Given the description of an element on the screen output the (x, y) to click on. 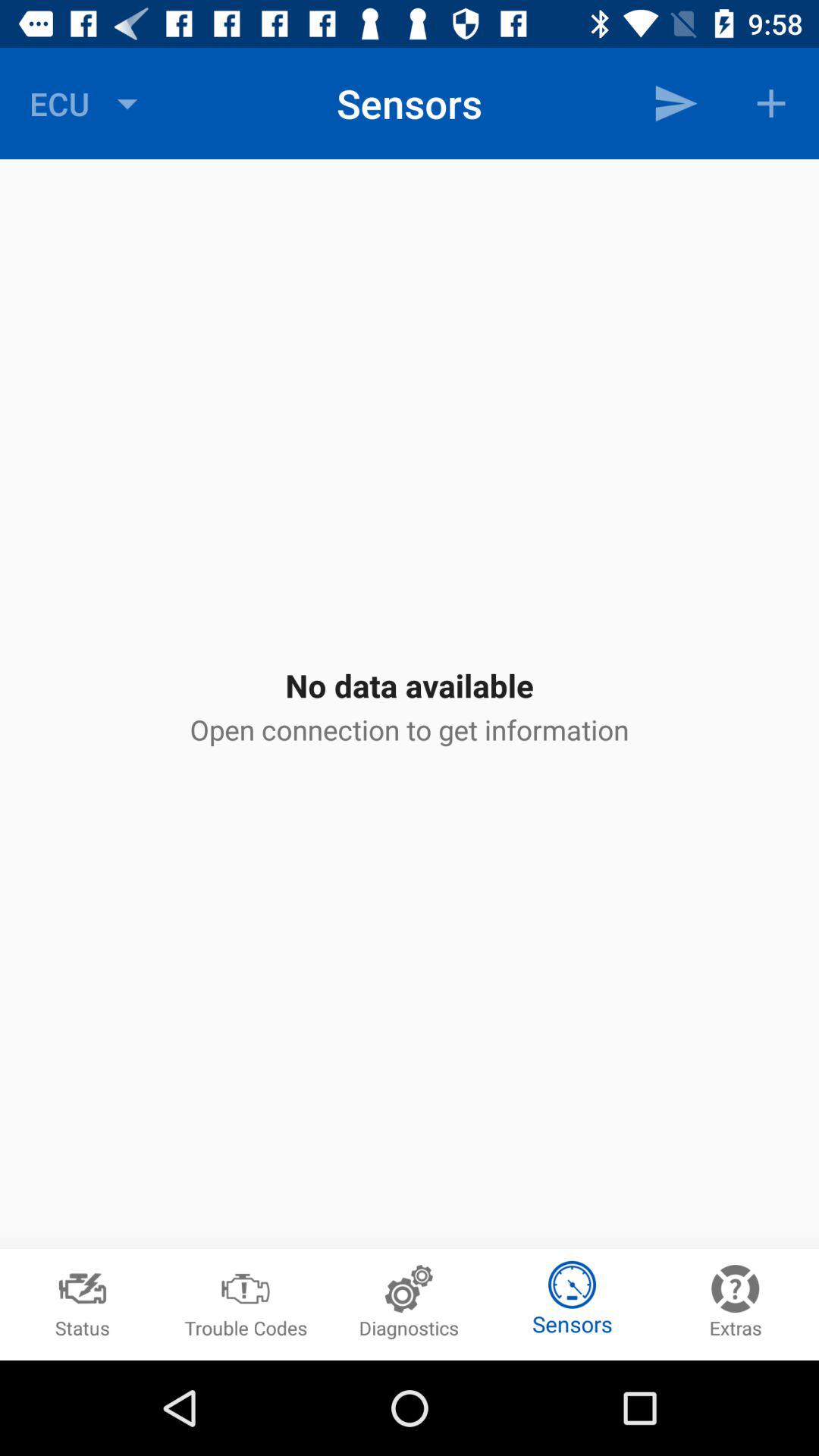
turn on item to the right of sensors item (675, 103)
